Given the description of an element on the screen output the (x, y) to click on. 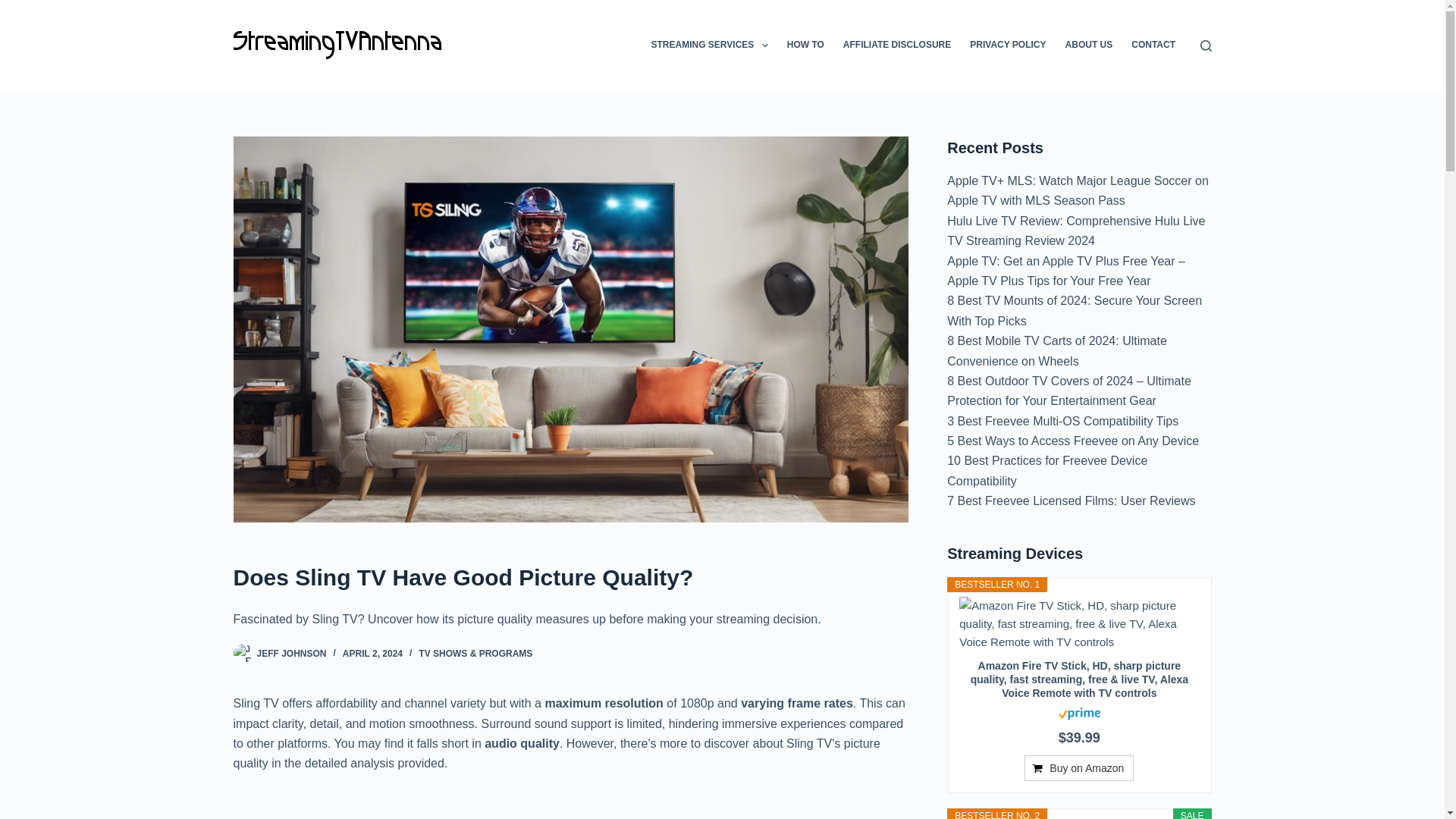
Posts by Jeff Johnson (291, 653)
JEFF JOHNSON (291, 653)
Skip to content (15, 7)
Does Sling TV Have Good Picture Quality? (570, 577)
8 Best TV Mounts of 2024: Secure Your Screen With Top Picks (1074, 310)
ABOUT US (1088, 45)
HOW TO (804, 45)
CONTACT (1153, 45)
PRIVACY POLICY (1007, 45)
Buy on Amazon (1079, 768)
STREAMING SERVICES (709, 45)
Amazon Prime (1079, 712)
AFFILIATE DISCLOSURE (895, 45)
